Given the description of an element on the screen output the (x, y) to click on. 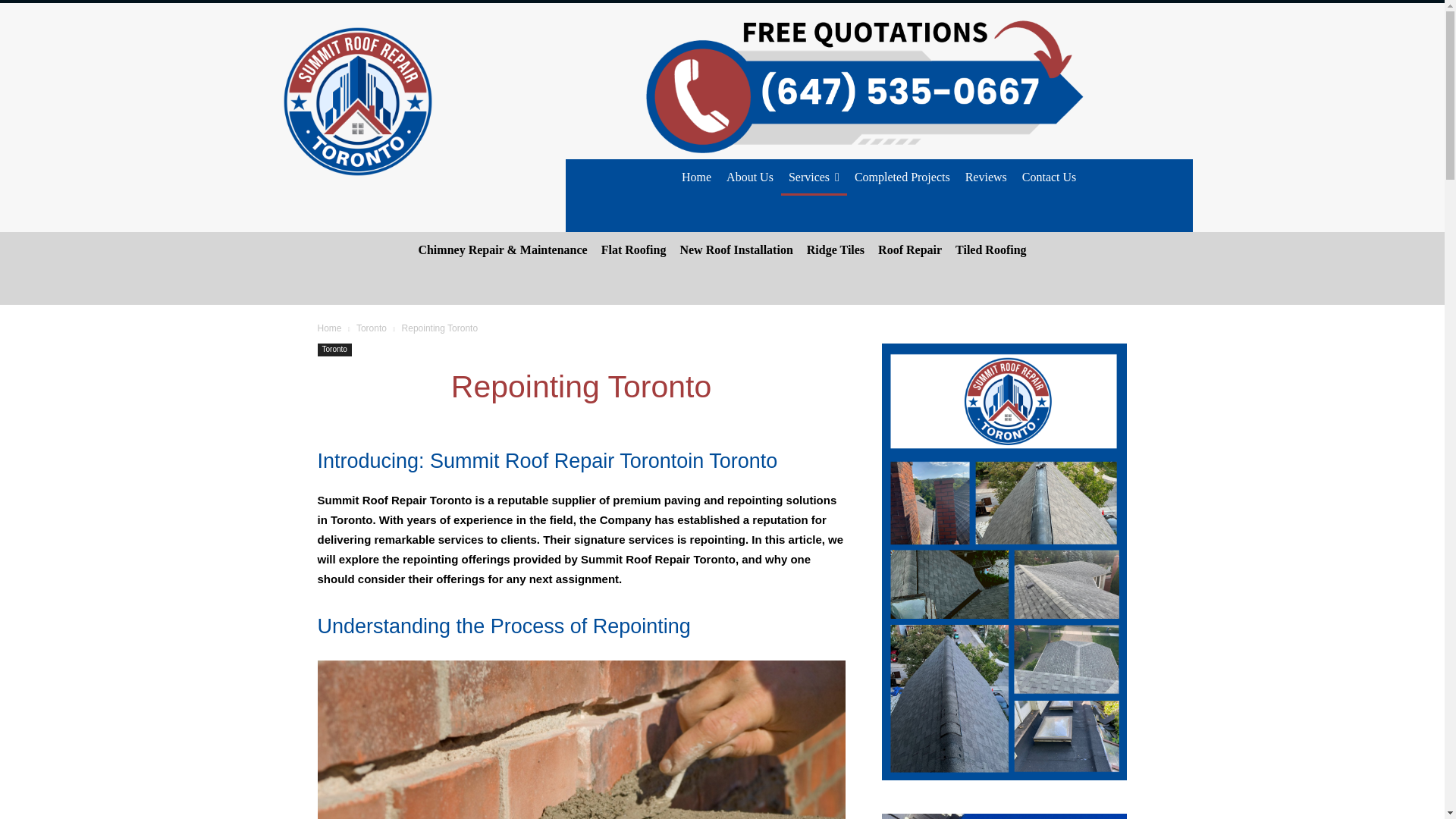
Home (696, 176)
Services (813, 176)
View all posts in Toronto (371, 327)
About Us (749, 176)
